Given the description of an element on the screen output the (x, y) to click on. 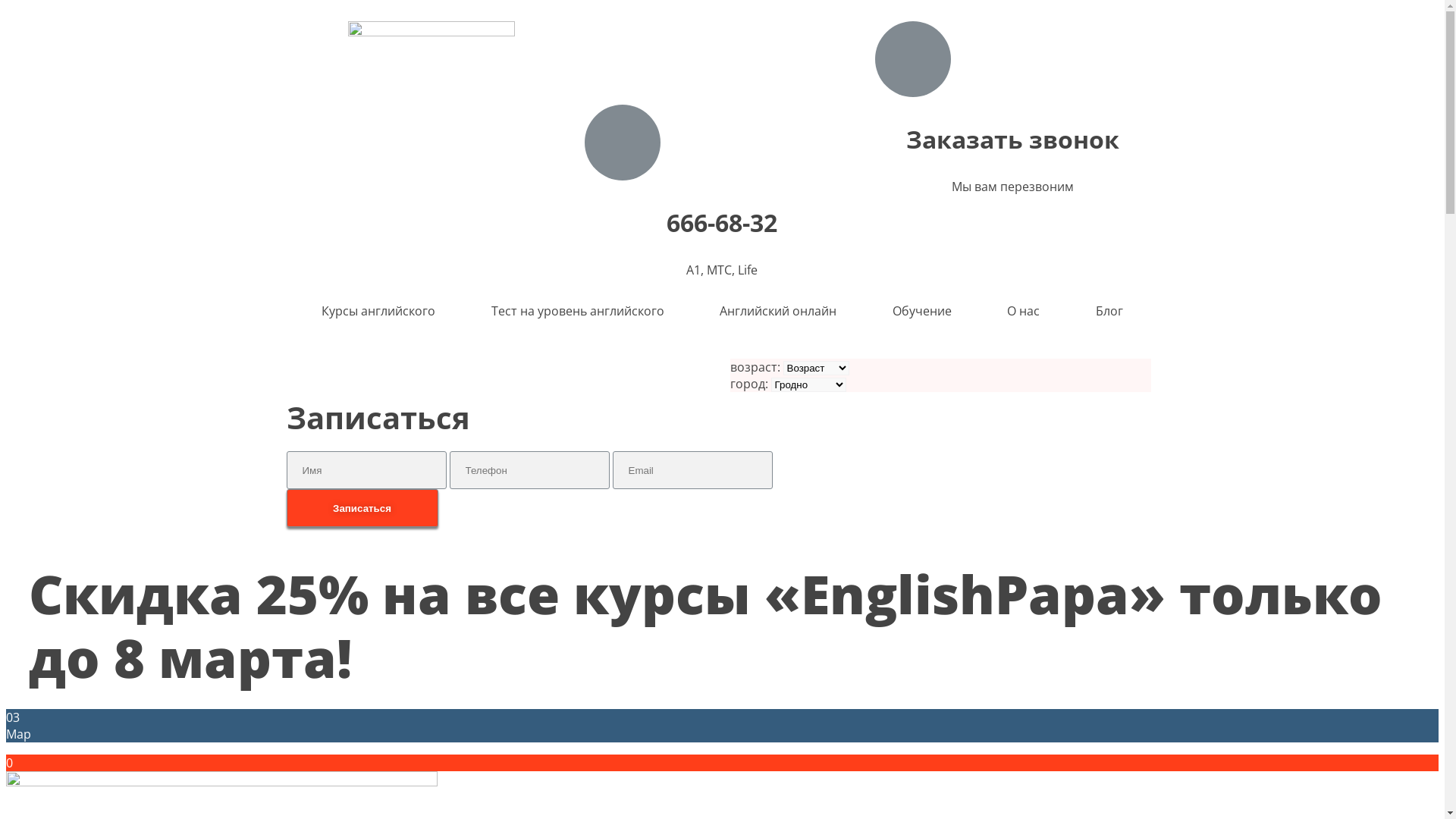
666-68-32 Element type: text (721, 222)
0 Element type: text (9, 762)
